Given the description of an element on the screen output the (x, y) to click on. 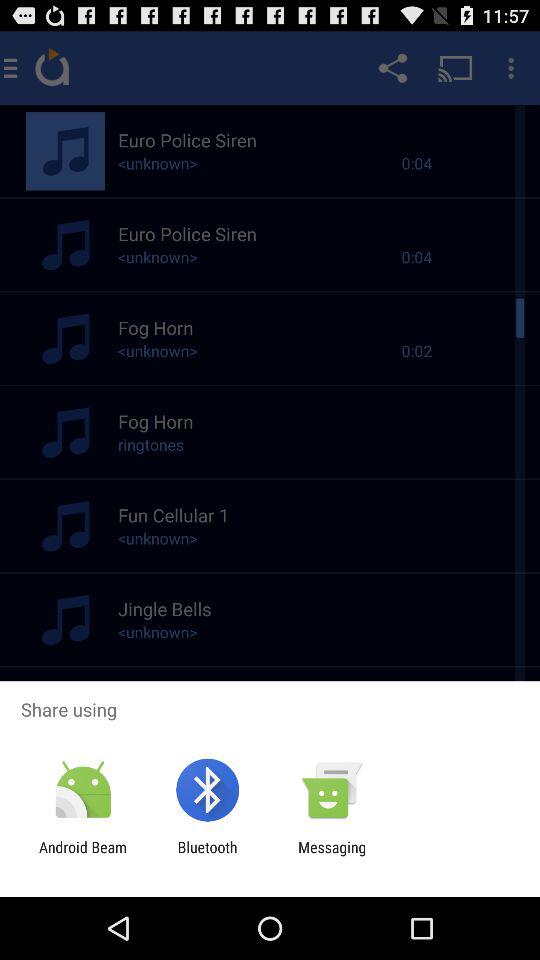
click the messaging (332, 856)
